Given the description of an element on the screen output the (x, y) to click on. 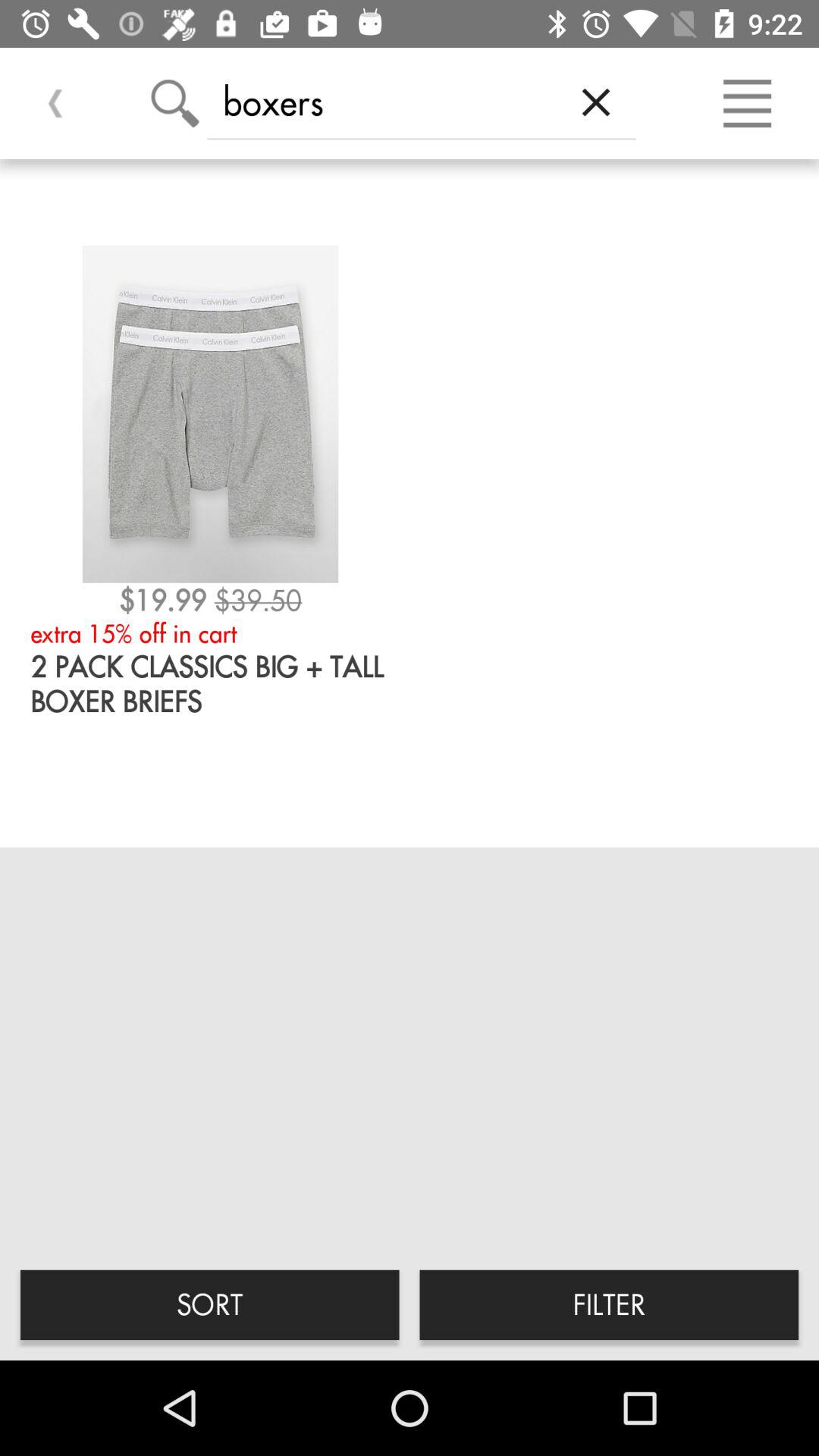
click boxers icon (381, 102)
